Given the description of an element on the screen output the (x, y) to click on. 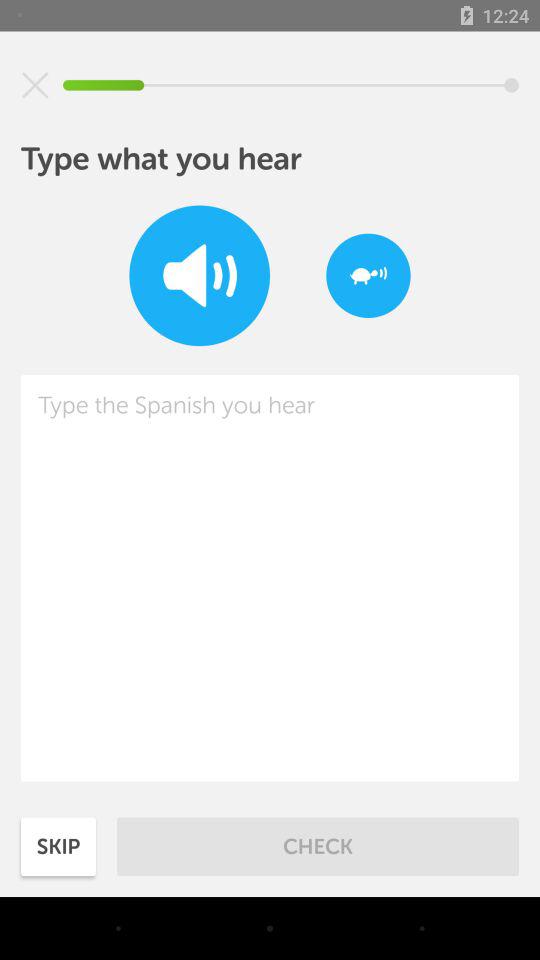
area to enter asphanumeric data (270, 578)
